Given the description of an element on the screen output the (x, y) to click on. 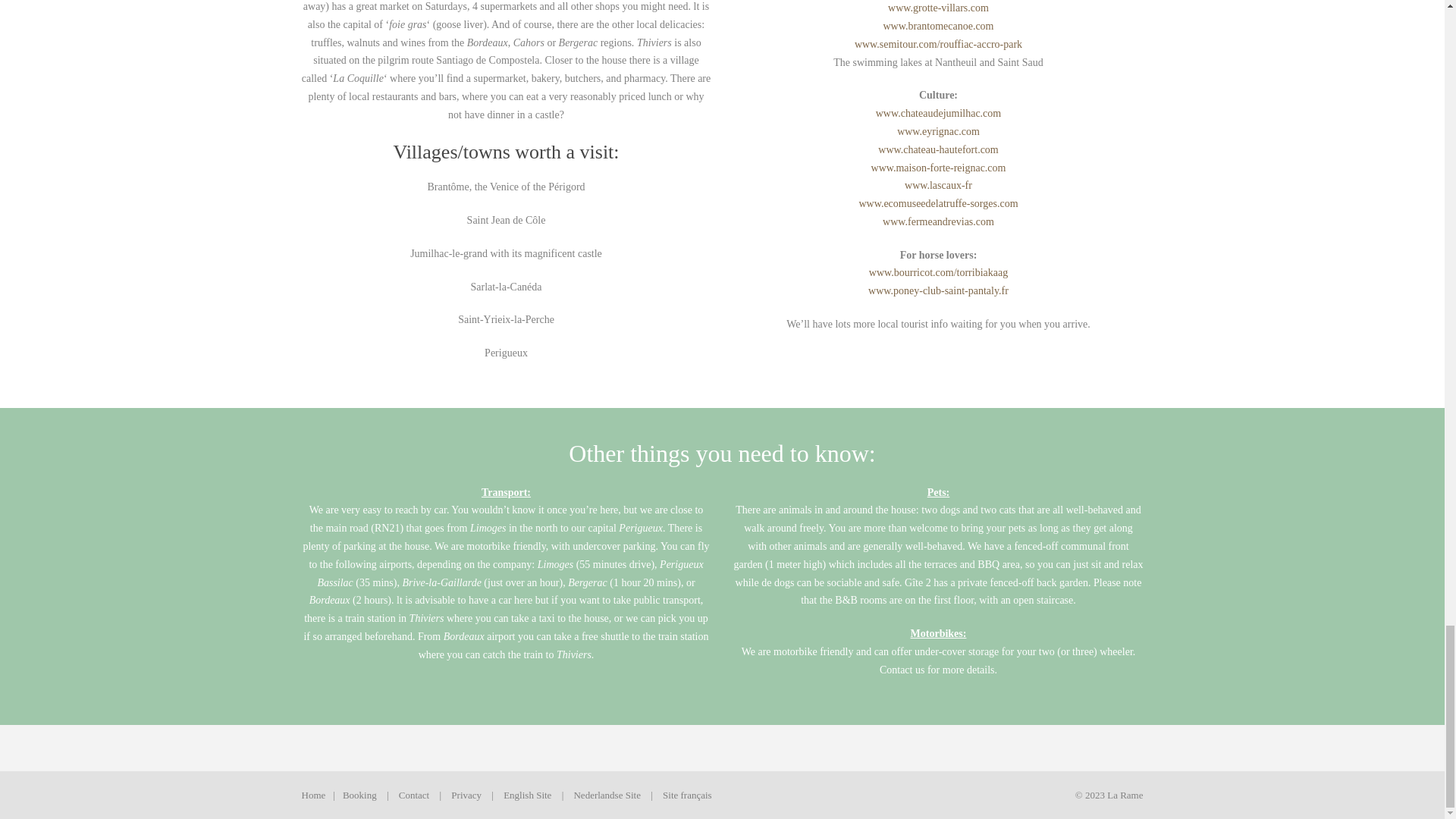
www.grotte-villars.com (938, 7)
Booking (359, 794)
www.chateau-hautefort.com (937, 149)
www.chateaudejumilhac.com (938, 112)
Contact (413, 794)
Home (313, 794)
Privacy (466, 794)
www.ecomuseedelatruffe-sorges.com (938, 203)
www.fermeandrevias.com (938, 221)
www.poney-club-saint-pantaly.fr (938, 290)
www.lascaux-fr (938, 184)
www.brantomecanoe.com (937, 25)
www.maison-forte-reignac.com (938, 167)
www.eyrignac.com (937, 131)
